Given the description of an element on the screen output the (x, y) to click on. 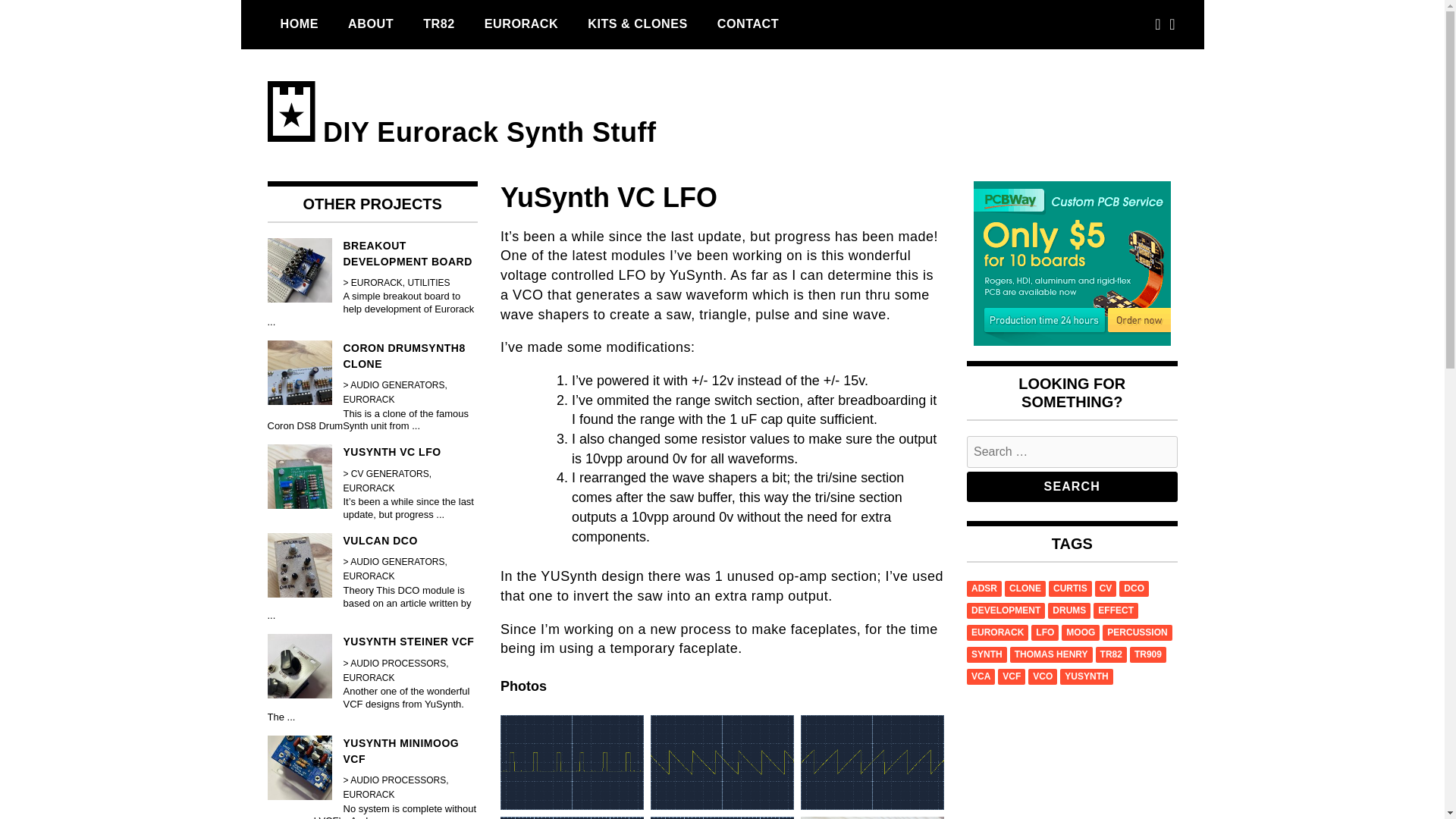
EURORACK (521, 23)
TR82 (438, 23)
HOME (298, 23)
ABOUT (370, 23)
Search (1071, 486)
Search (1071, 486)
